Given the description of an element on the screen output the (x, y) to click on. 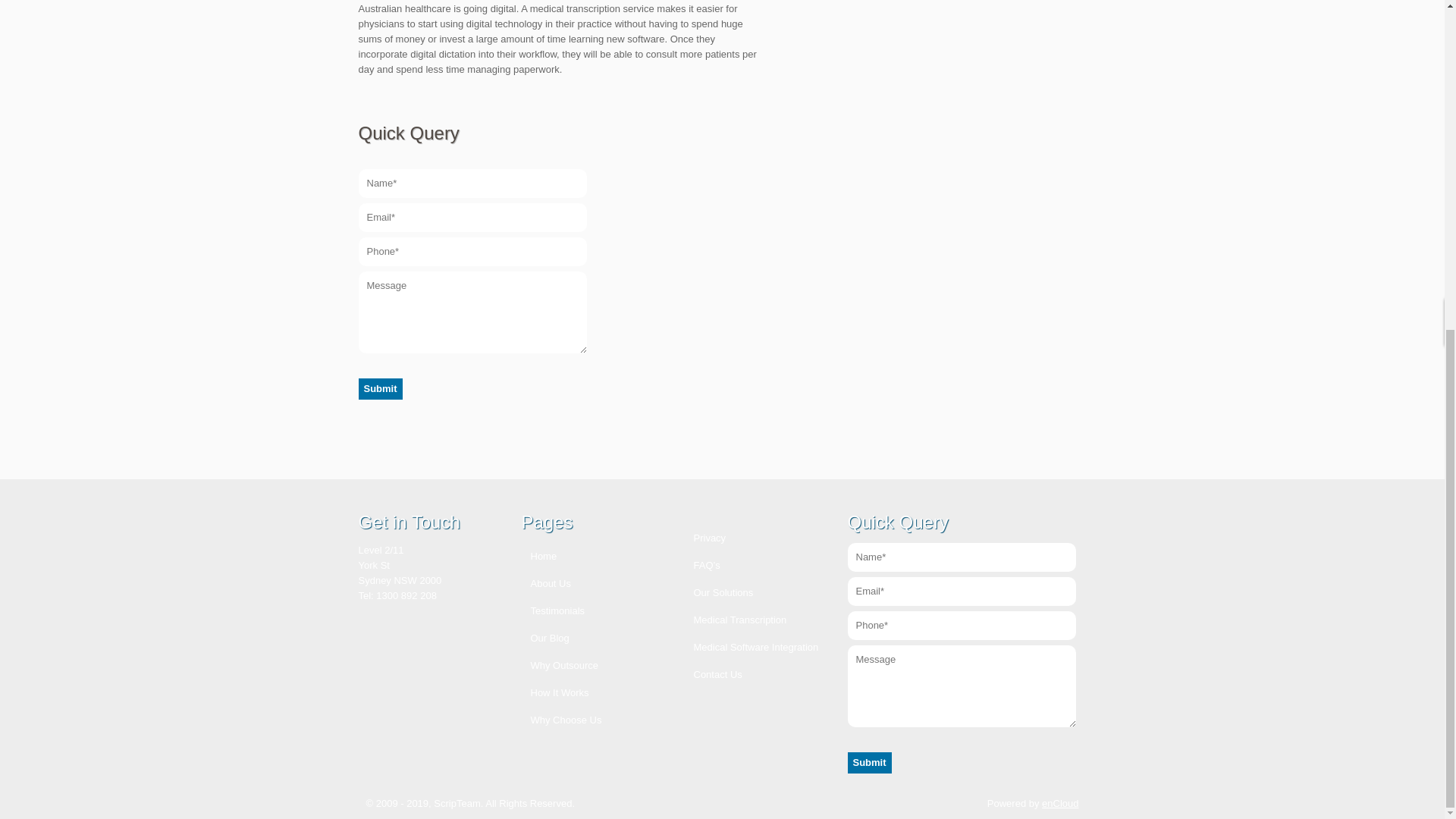
Submit (379, 388)
Medical Software Integration (751, 646)
Why Choose Us (561, 719)
Testimonials (553, 610)
Our Blog (545, 637)
Why Outsource (559, 665)
Submit (379, 388)
How It Works (555, 692)
Our Solutions (718, 592)
Medical Transcription (735, 619)
